Given the description of an element on the screen output the (x, y) to click on. 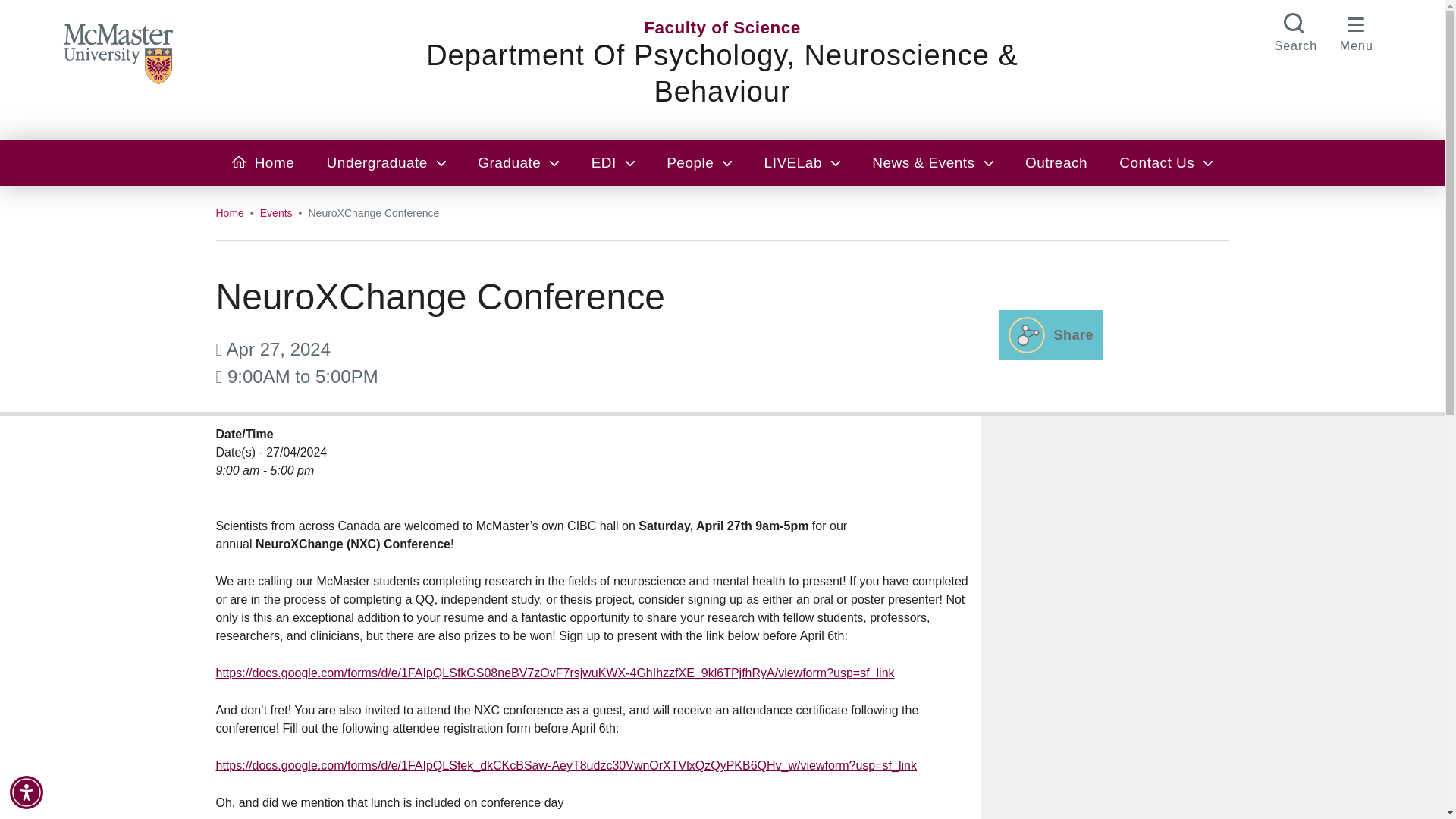
inurl:mcmaster.ca (829, 175)
SEARCH BUTTON (1295, 31)
MCMASTER LOGO (125, 52)
Faculty of Science (721, 27)
MENU BUTTON (1356, 31)
inurl:pnb.mcmaster.ca (601, 175)
Accessibility Menu (26, 792)
